Given the description of an element on the screen output the (x, y) to click on. 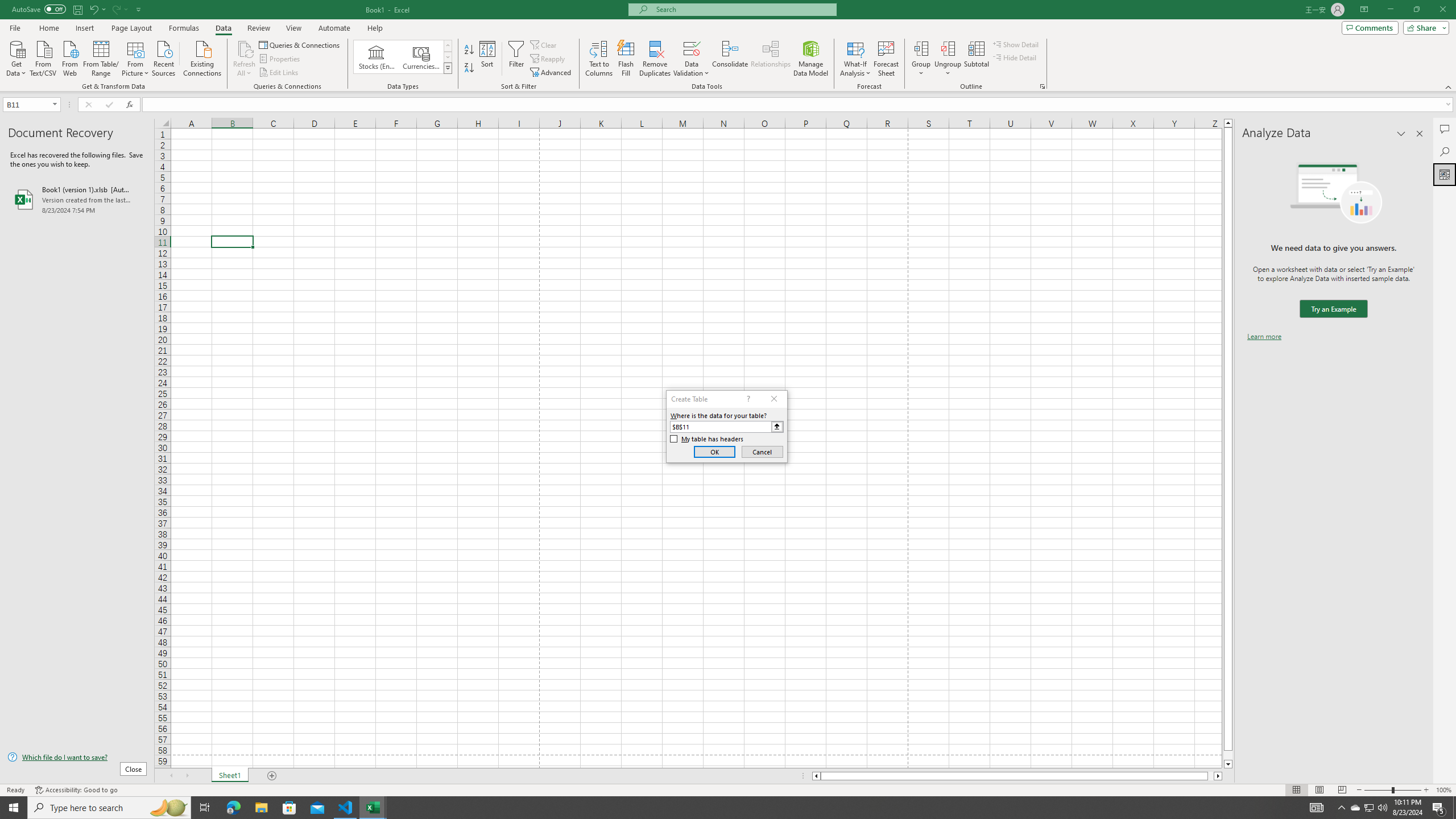
Relationships (770, 58)
Existing Connections (202, 57)
Manage Data Model (810, 58)
Subtotal (976, 58)
Currencies (English) (420, 56)
